Given the description of an element on the screen output the (x, y) to click on. 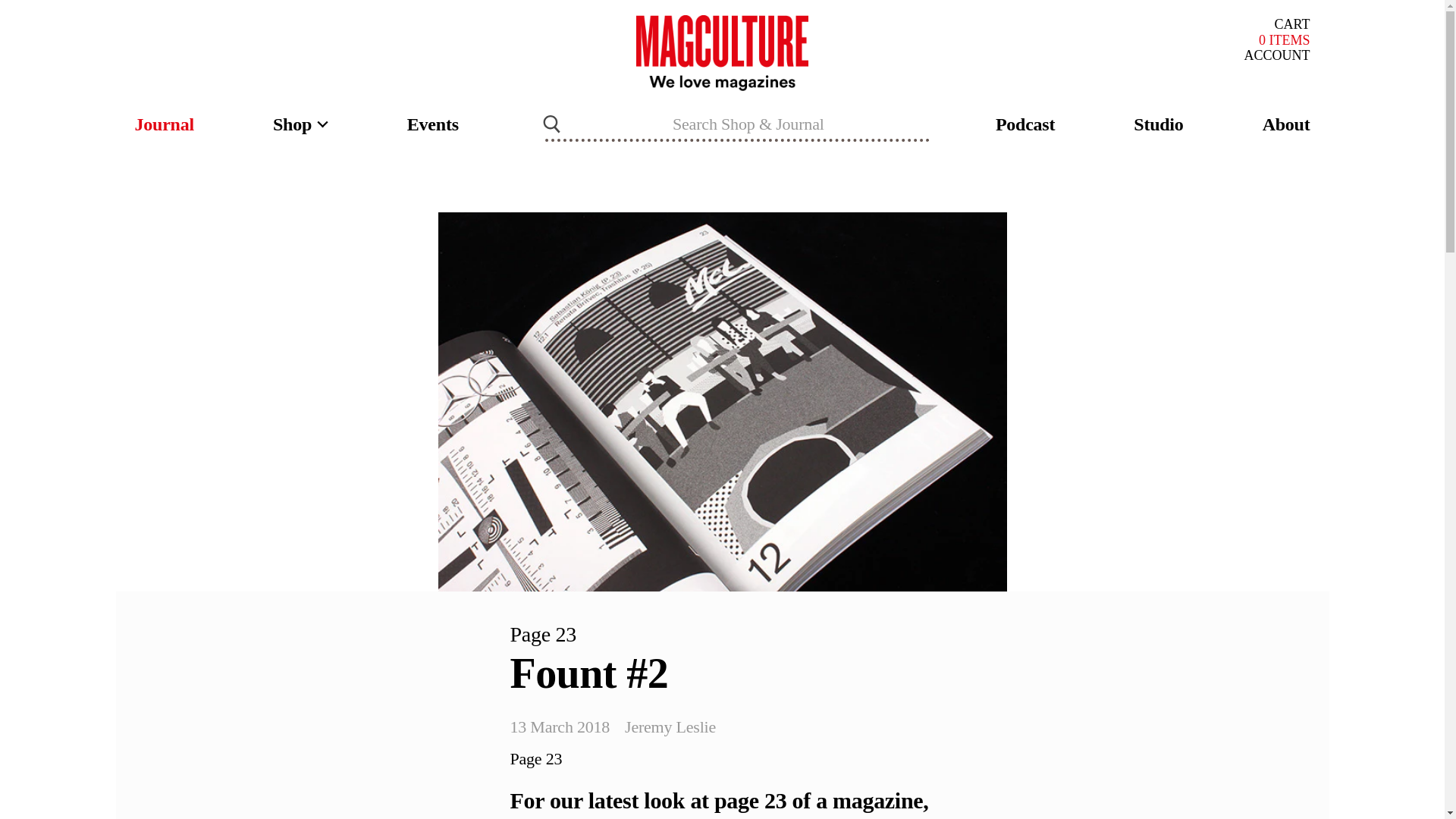
0 ITEMS (1284, 40)
Show articles tagged Page 23 (535, 758)
Journal (164, 124)
ACCOUNT (1292, 24)
Shop (1275, 55)
